Given the description of an element on the screen output the (x, y) to click on. 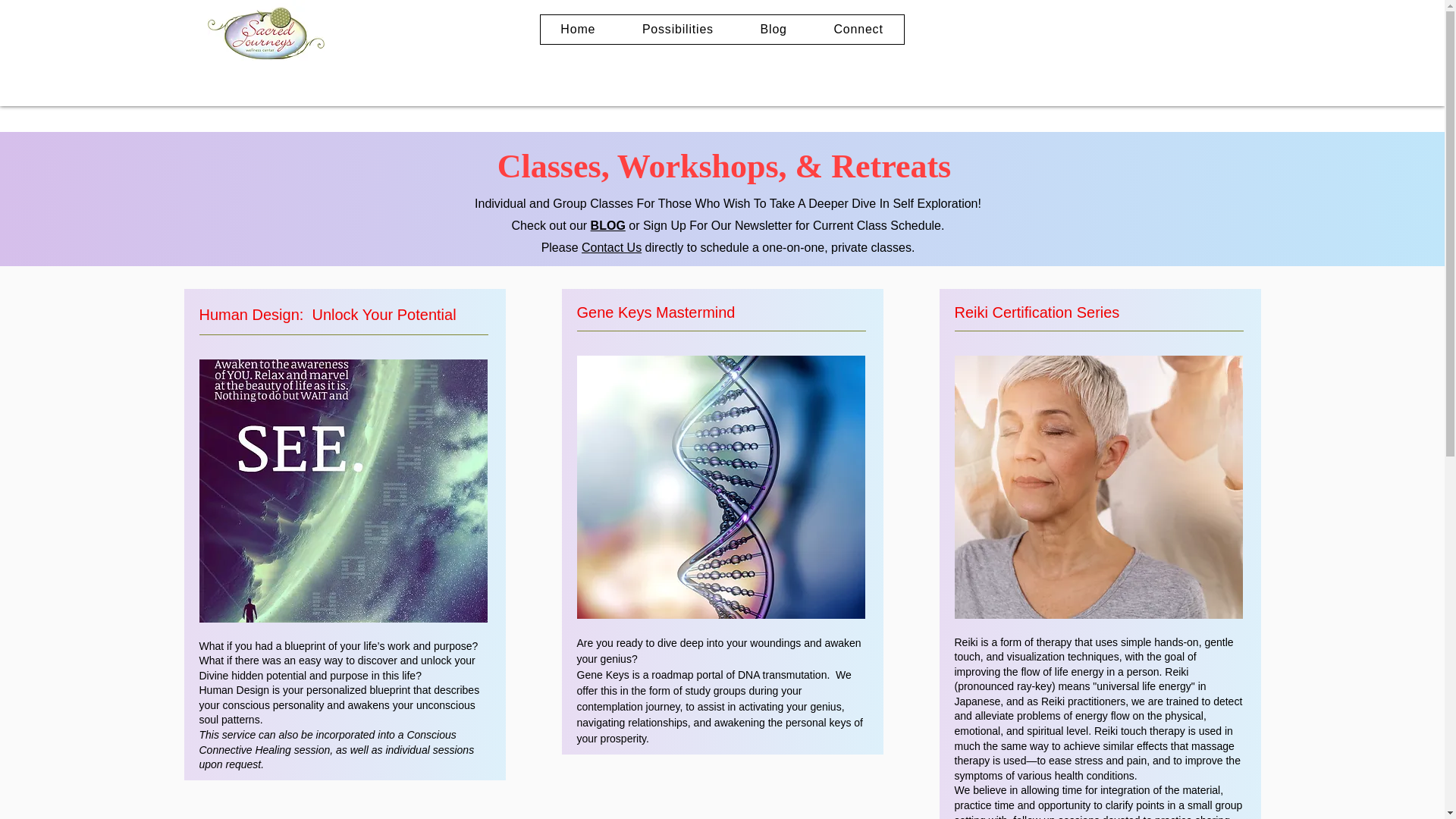
Blog (773, 29)
Contact Us (611, 246)
BLOG (608, 225)
Possibilities (677, 29)
Connect (858, 29)
Home (577, 29)
